Given the description of an element on the screen output the (x, y) to click on. 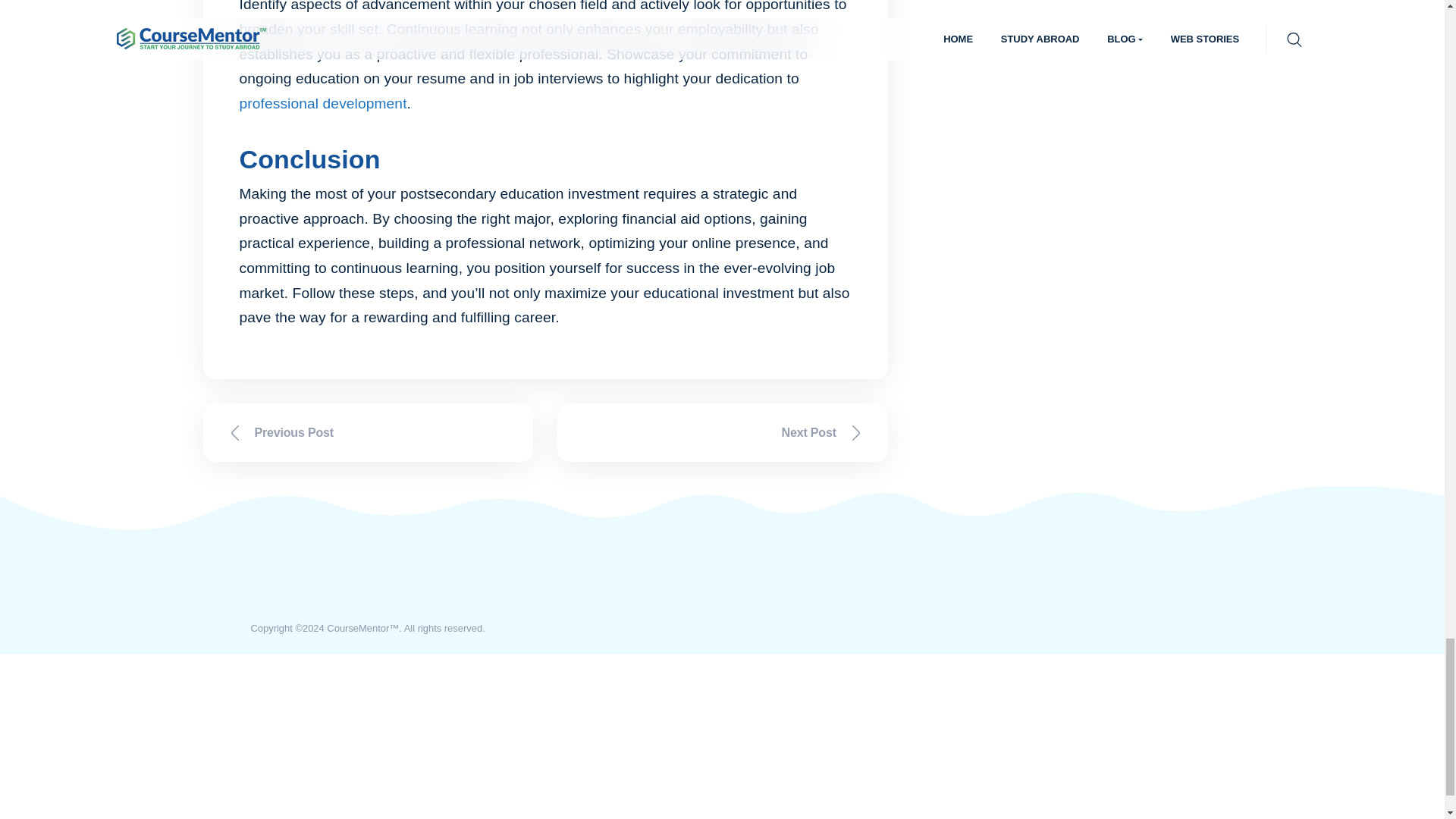
Next Post (722, 432)
Previous Post (368, 432)
professional development (323, 103)
